Given the description of an element on the screen output the (x, y) to click on. 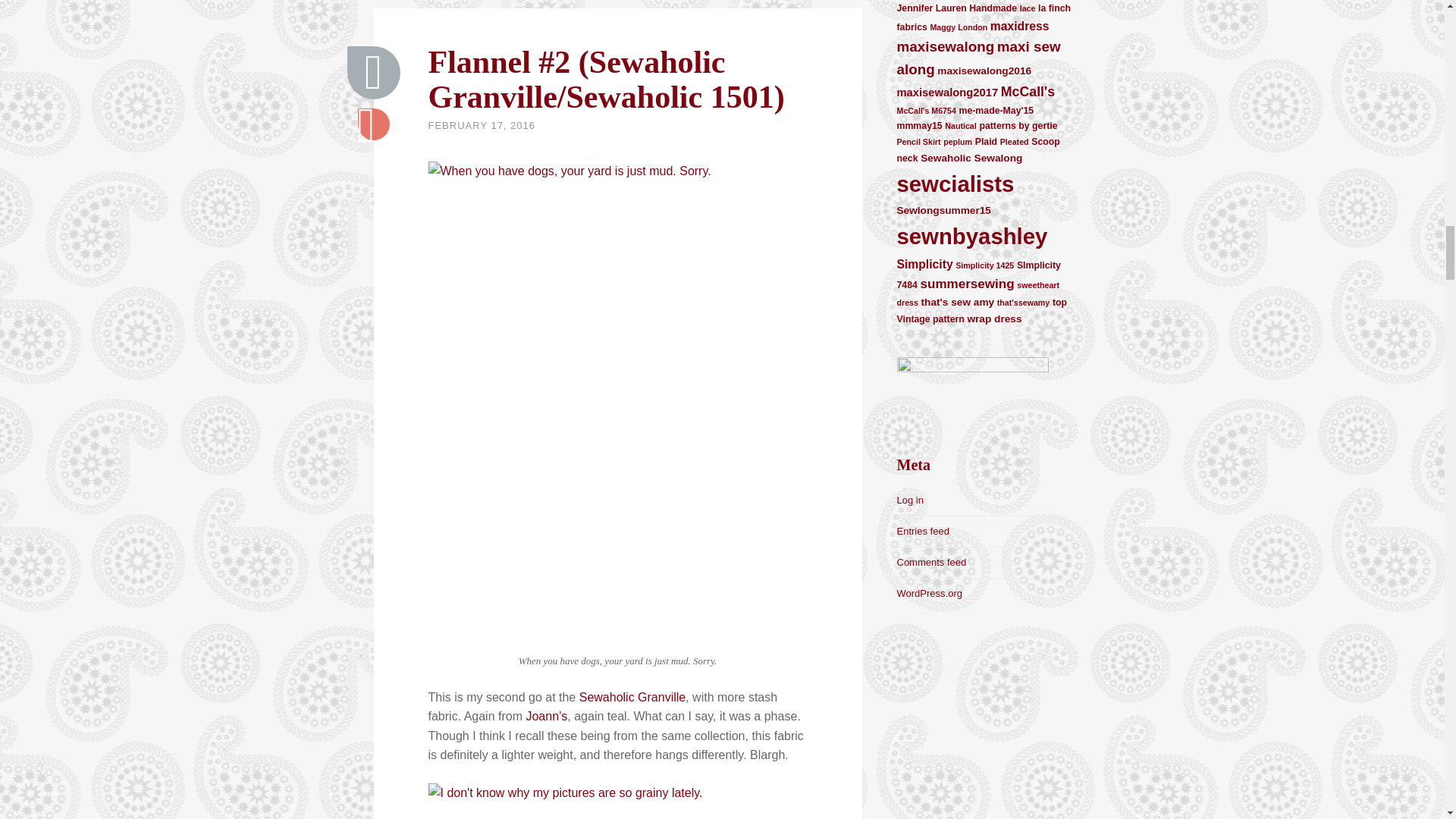
FEBRUARY 17, 2016 (481, 125)
Sewaholic Granville (632, 697)
